Given the description of an element on the screen output the (x, y) to click on. 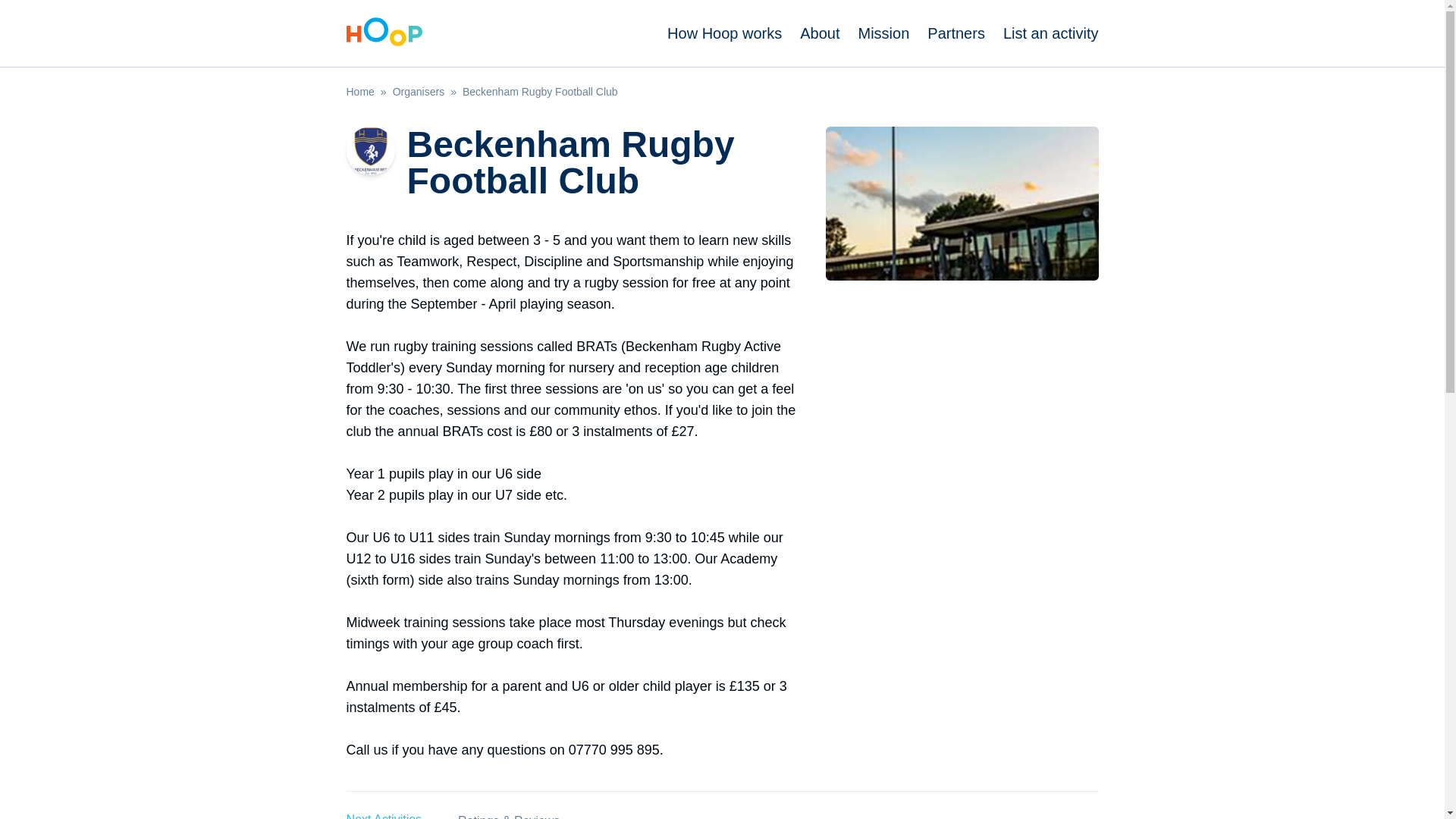
How Hoop works (723, 33)
Home (360, 91)
List an activity (1051, 33)
Mission (884, 33)
Organisers (418, 91)
Partners (956, 33)
Next Activities (384, 805)
About (819, 33)
